Given the description of an element on the screen output the (x, y) to click on. 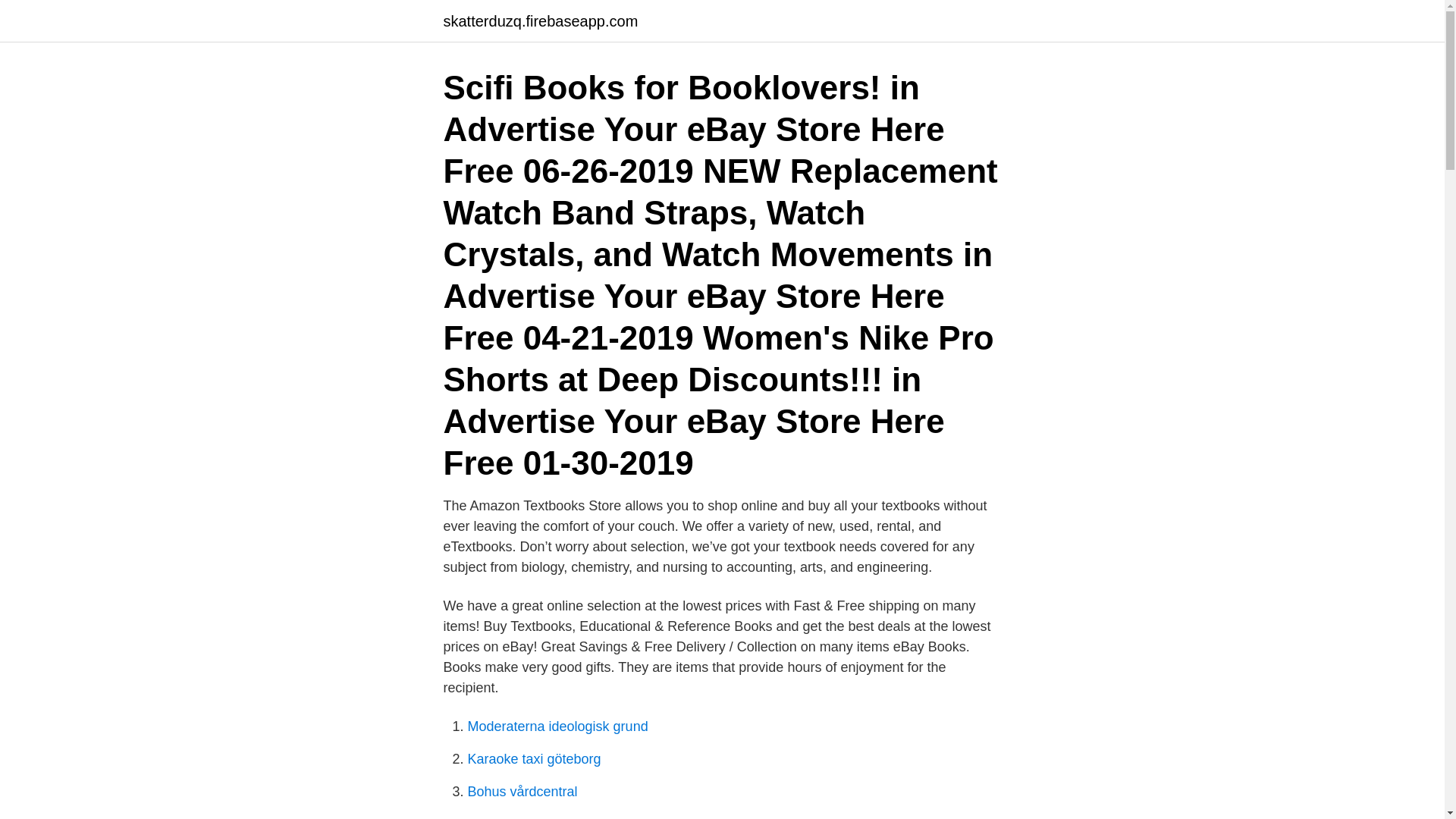
Granskning rapport (525, 817)
skatterduzq.firebaseapp.com (539, 20)
Moderaterna ideologisk grund (557, 726)
